Given the description of an element on the screen output the (x, y) to click on. 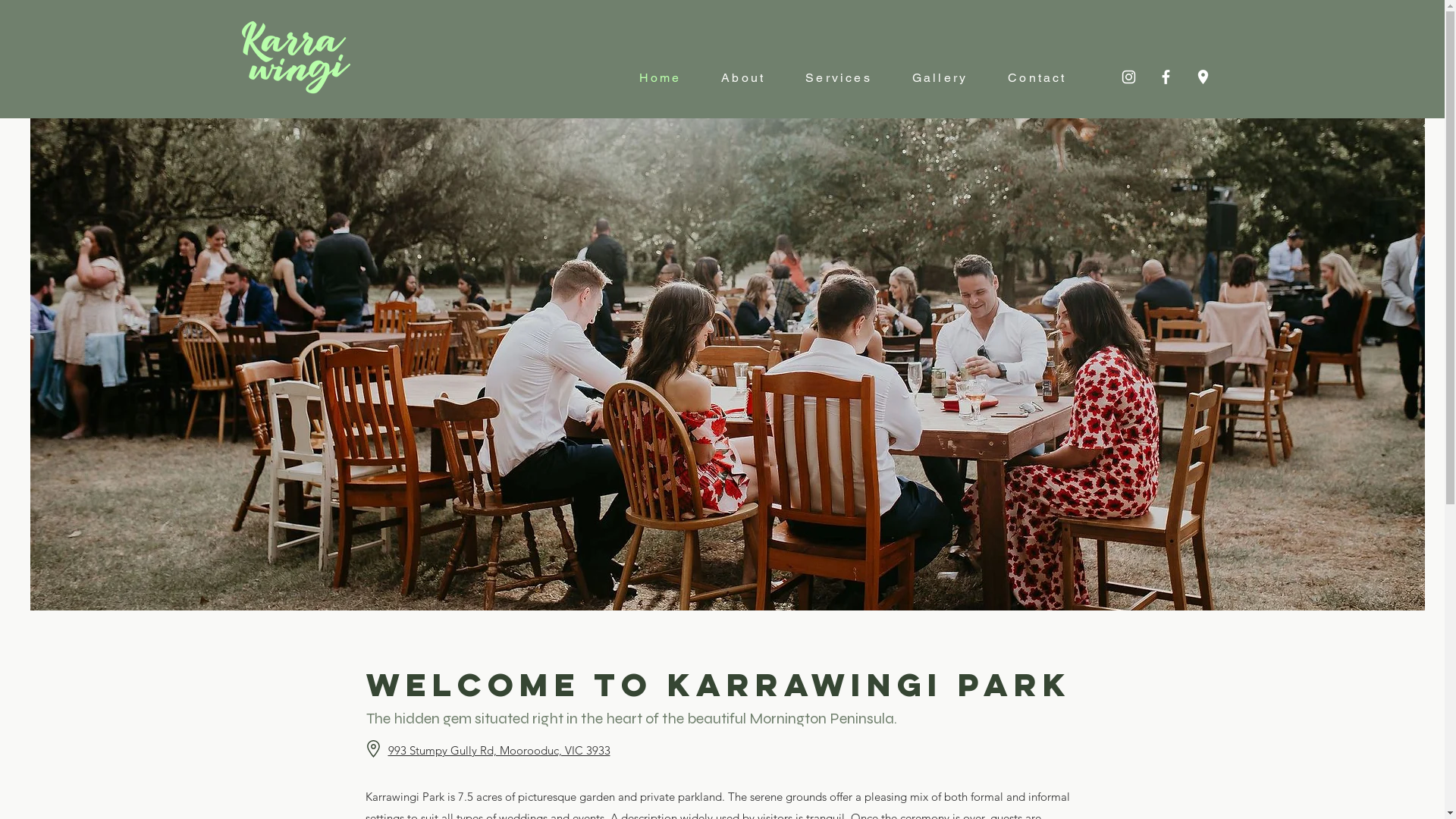
Contact Element type: text (1046, 77)
Services Element type: text (847, 77)
993 Stumpy Gully Rd, Moorooduc, VIC 3933 Element type: text (499, 750)
Home Element type: text (668, 77)
Gallery Element type: text (949, 77)
About Element type: text (752, 77)
